Given the description of an element on the screen output the (x, y) to click on. 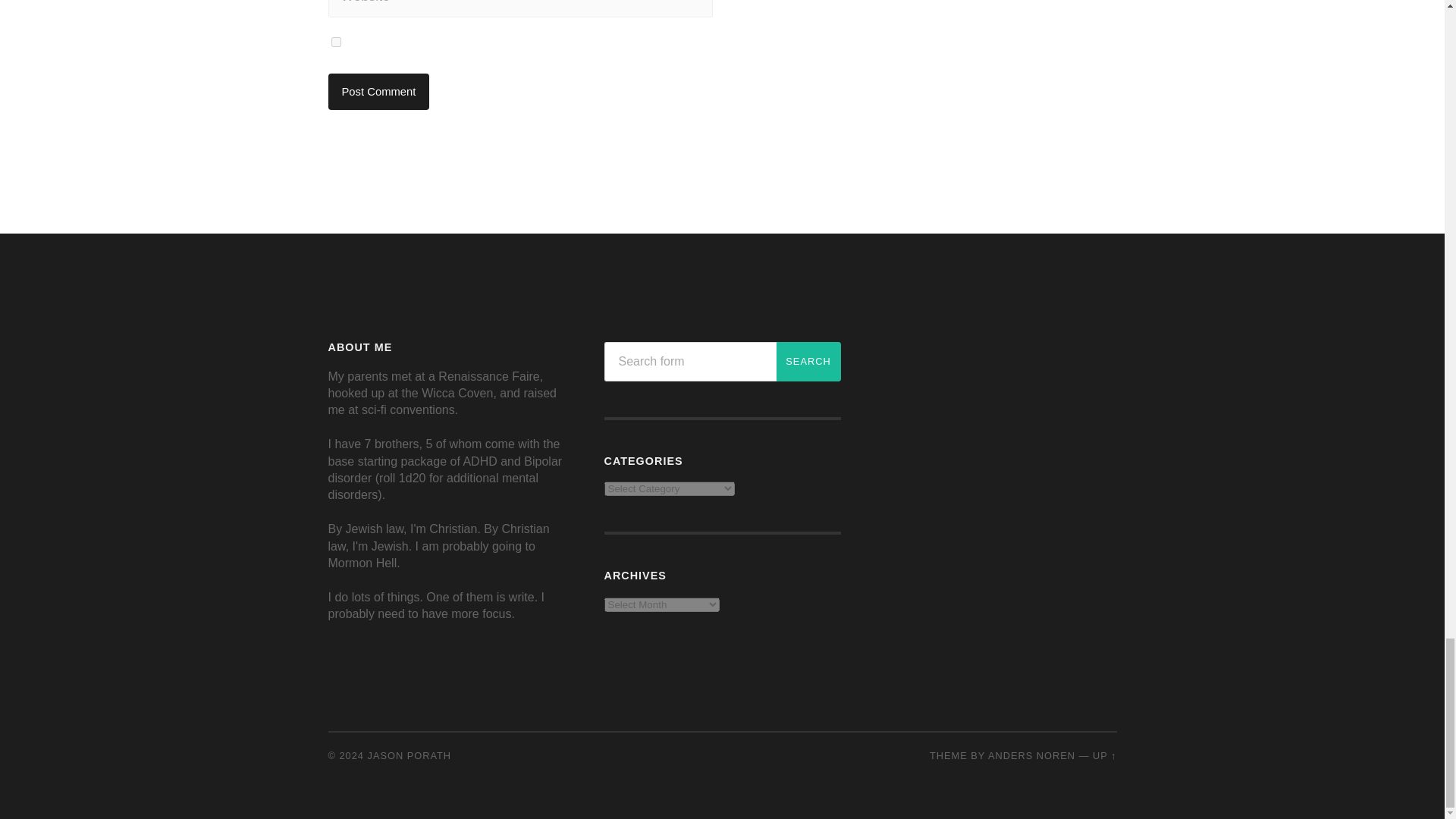
Post Comment (378, 91)
Post Comment (378, 91)
yes (335, 41)
Search (808, 361)
